Given the description of an element on the screen output the (x, y) to click on. 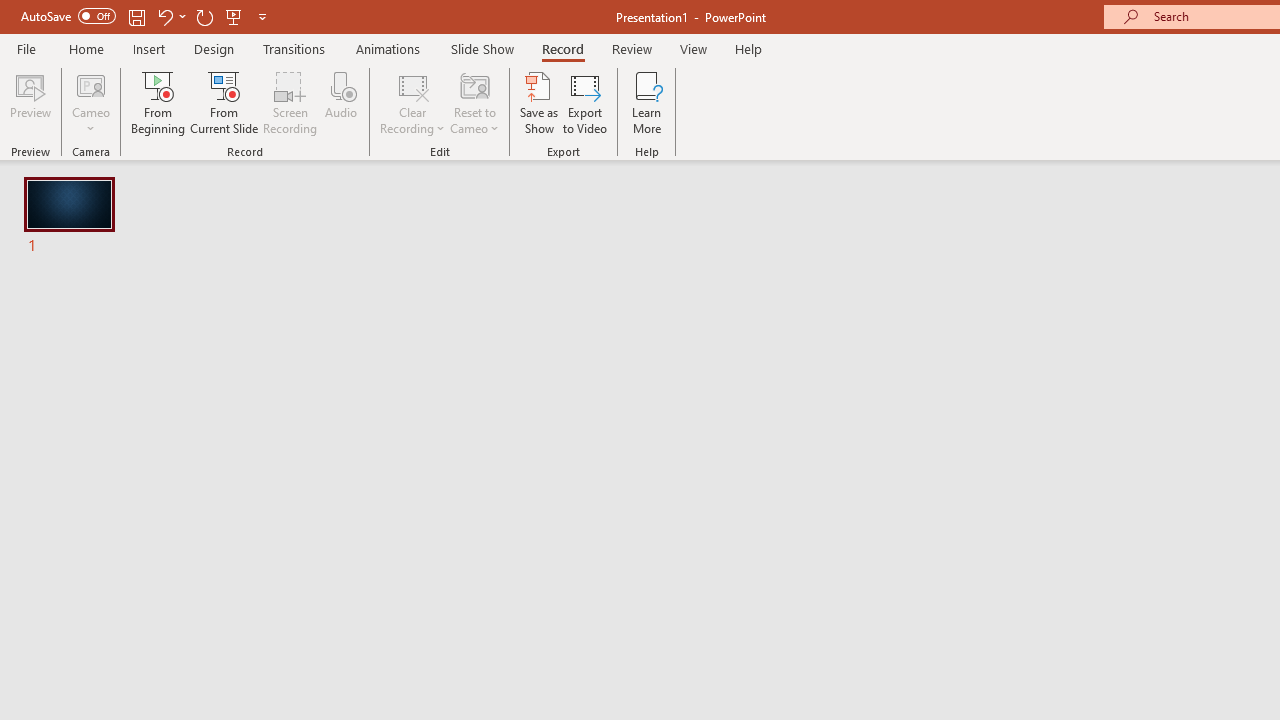
Screen Recording (290, 102)
View (693, 48)
Reset to Cameo (474, 102)
Clear Recording (412, 102)
Review (631, 48)
Slide (68, 217)
From Current Slide... (224, 102)
Redo (204, 15)
Save as Show (539, 102)
File Tab (26, 48)
From Beginning... (158, 102)
